Given the description of an element on the screen output the (x, y) to click on. 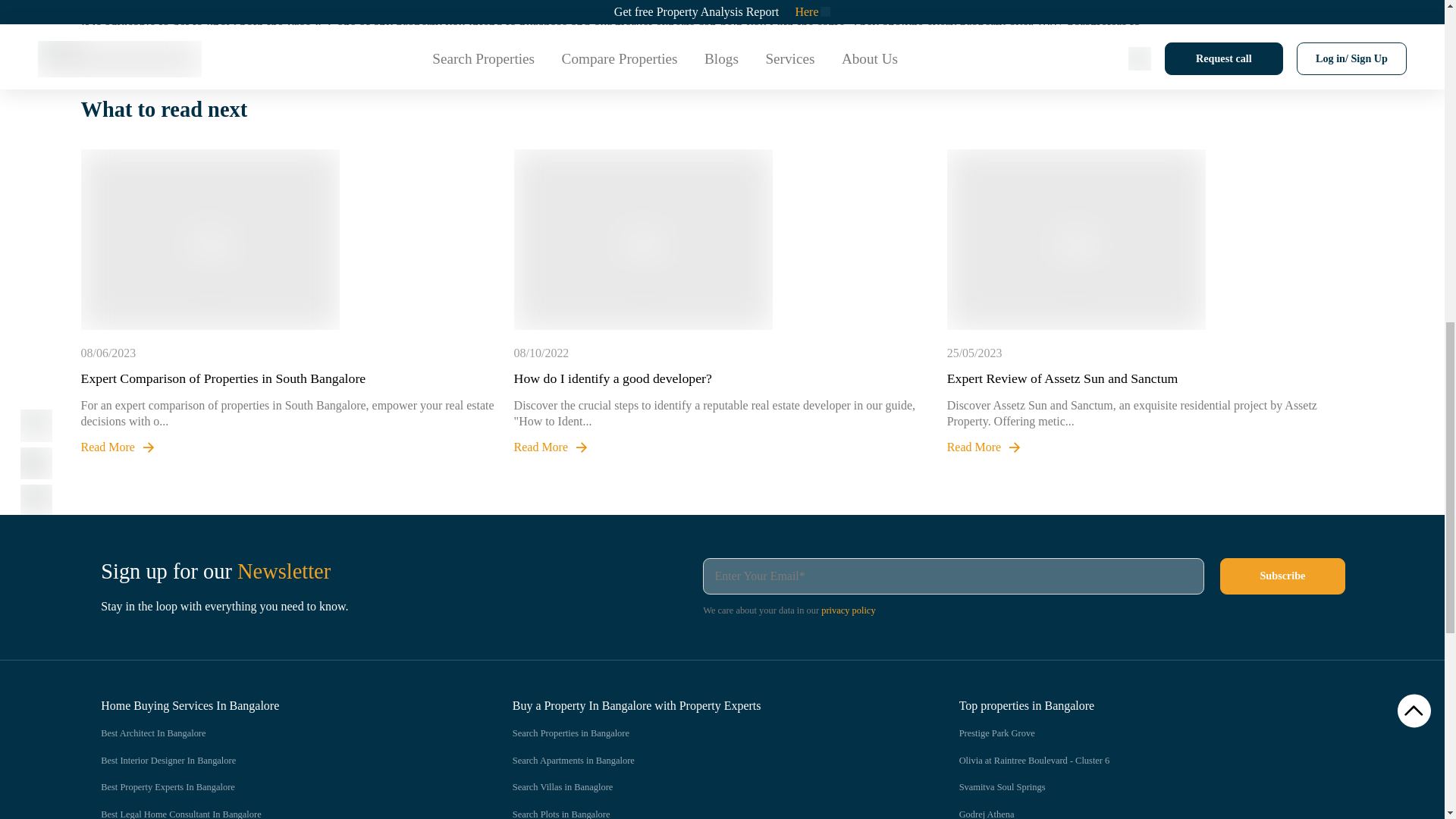
Best Legal Home Consultant In Bangalore (275, 813)
Search Villas in Banaglore (705, 787)
Godrej Athena (1152, 813)
Prestige Park Grove (1152, 734)
Search Plots in Bangalore (705, 813)
Best Property Experts In Bangalore (275, 787)
Svamitva Soul Springs (1152, 787)
here (665, 45)
Search Properties in Bangalore (705, 734)
Best Interior Designer In Bangalore (275, 761)
Best Architect In Bangalore (275, 734)
Olivia at Raintree Boulevard - Cluster 6 (1152, 761)
privacy policy (848, 610)
Subscribe (1281, 575)
Search Apartments in Bangalore (705, 761)
